Given the description of an element on the screen output the (x, y) to click on. 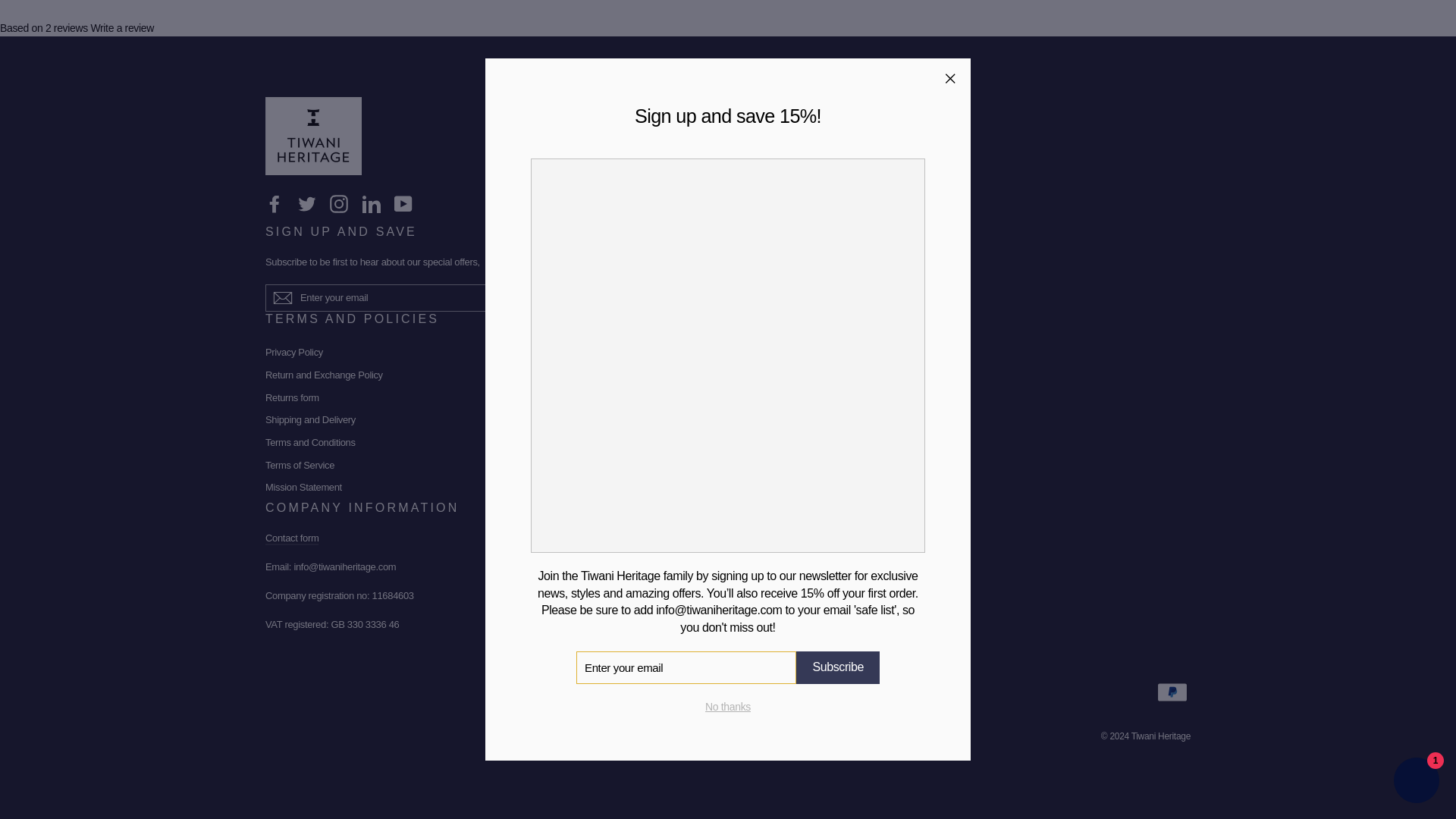
PayPal (1172, 692)
